Given the description of an element on the screen output the (x, y) to click on. 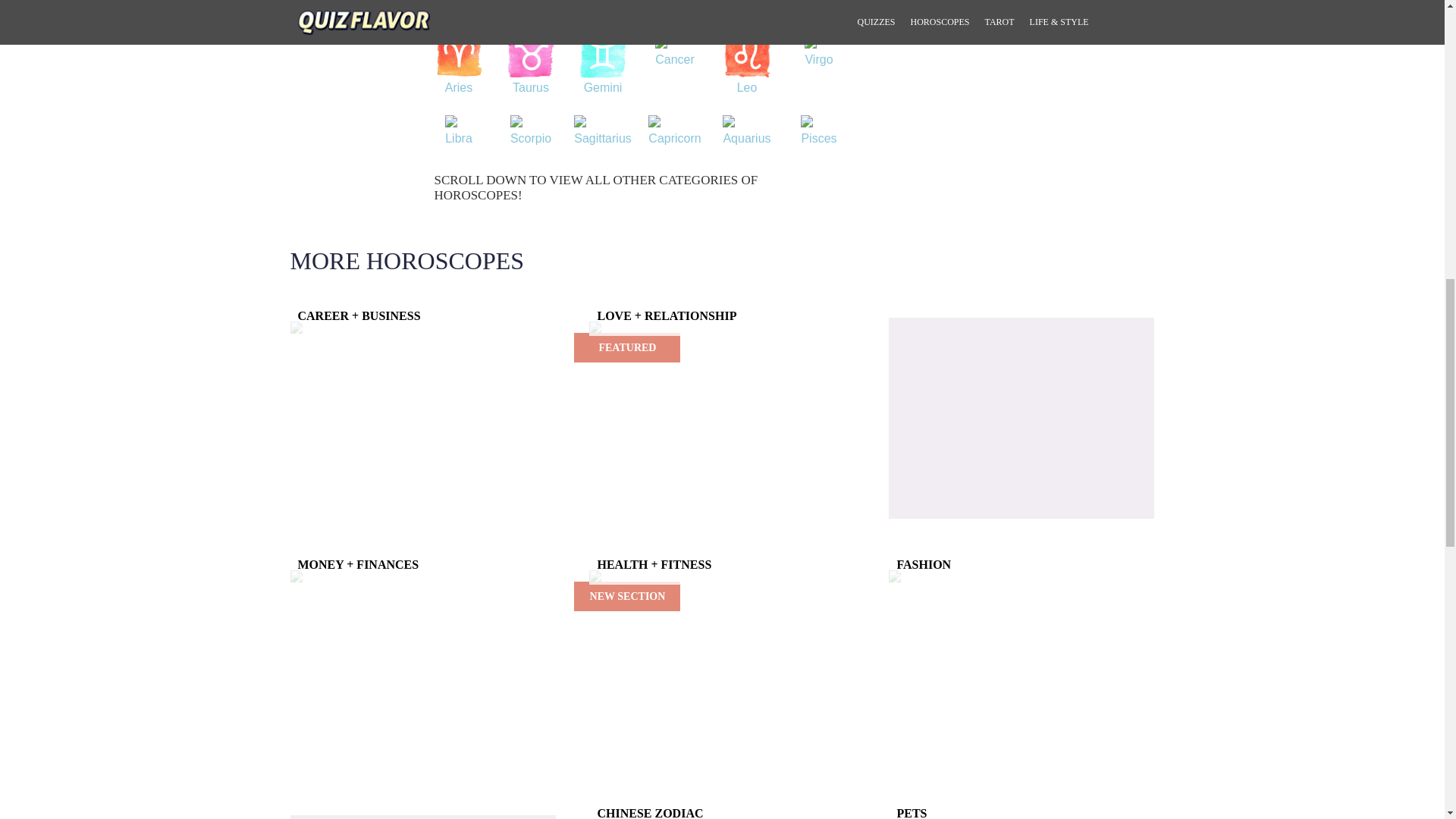
Sagittarius (602, 134)
PETS (1021, 816)
FASHION (1021, 575)
Aquarius (746, 134)
Capricorn (673, 134)
CHINESE ZODIAC (721, 816)
